Given the description of an element on the screen output the (x, y) to click on. 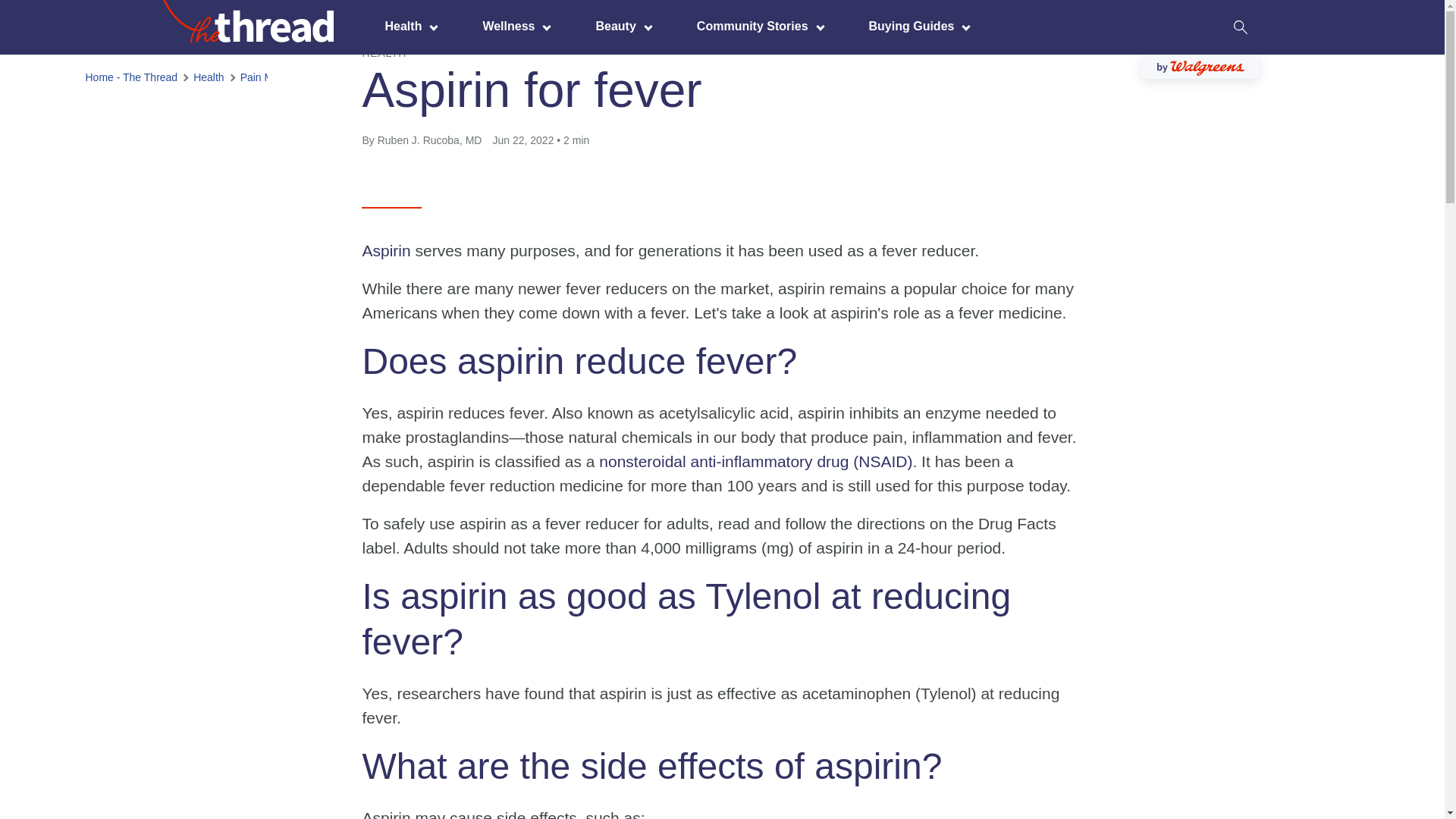
Wellness (512, 25)
Health (407, 25)
Community Stories (756, 25)
Beauty (619, 25)
